Given the description of an element on the screen output the (x, y) to click on. 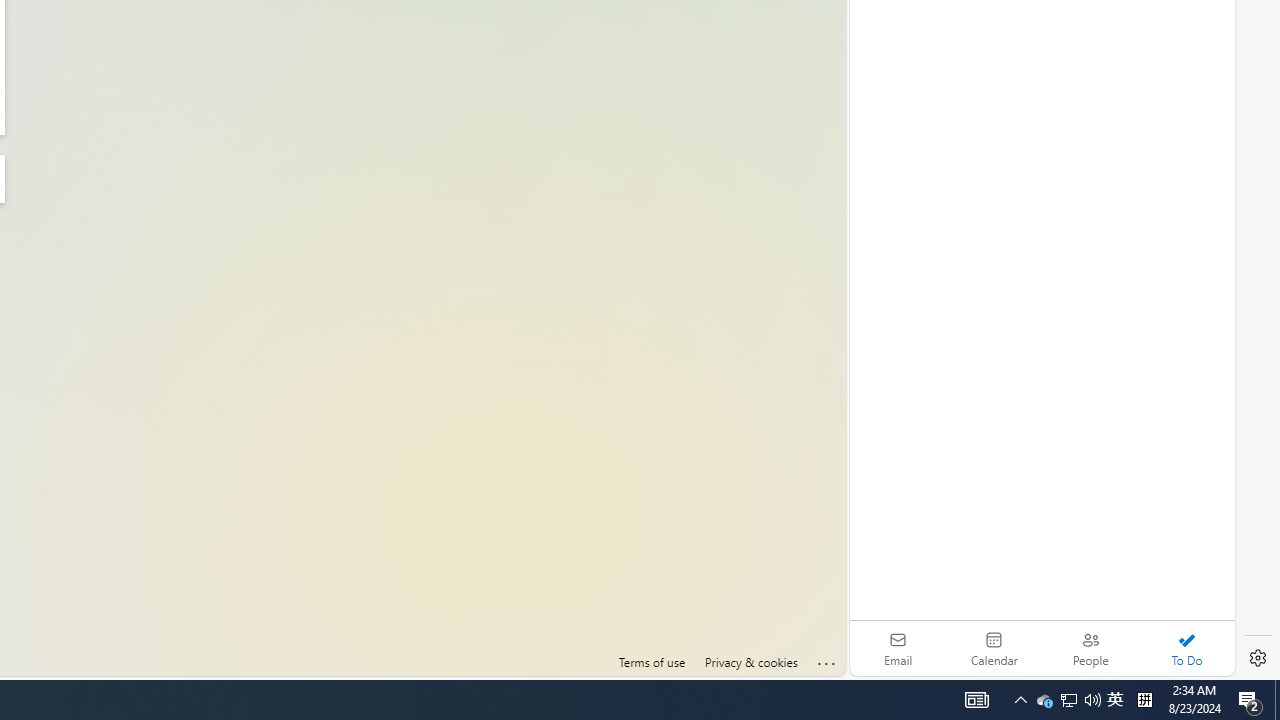
Email (898, 648)
Terms of use (652, 662)
Click here for troubleshooting information (827, 659)
Privacy & cookies (750, 662)
People (1090, 648)
To Do (1186, 648)
Calendar. Date today is 22 (994, 648)
